Given the description of an element on the screen output the (x, y) to click on. 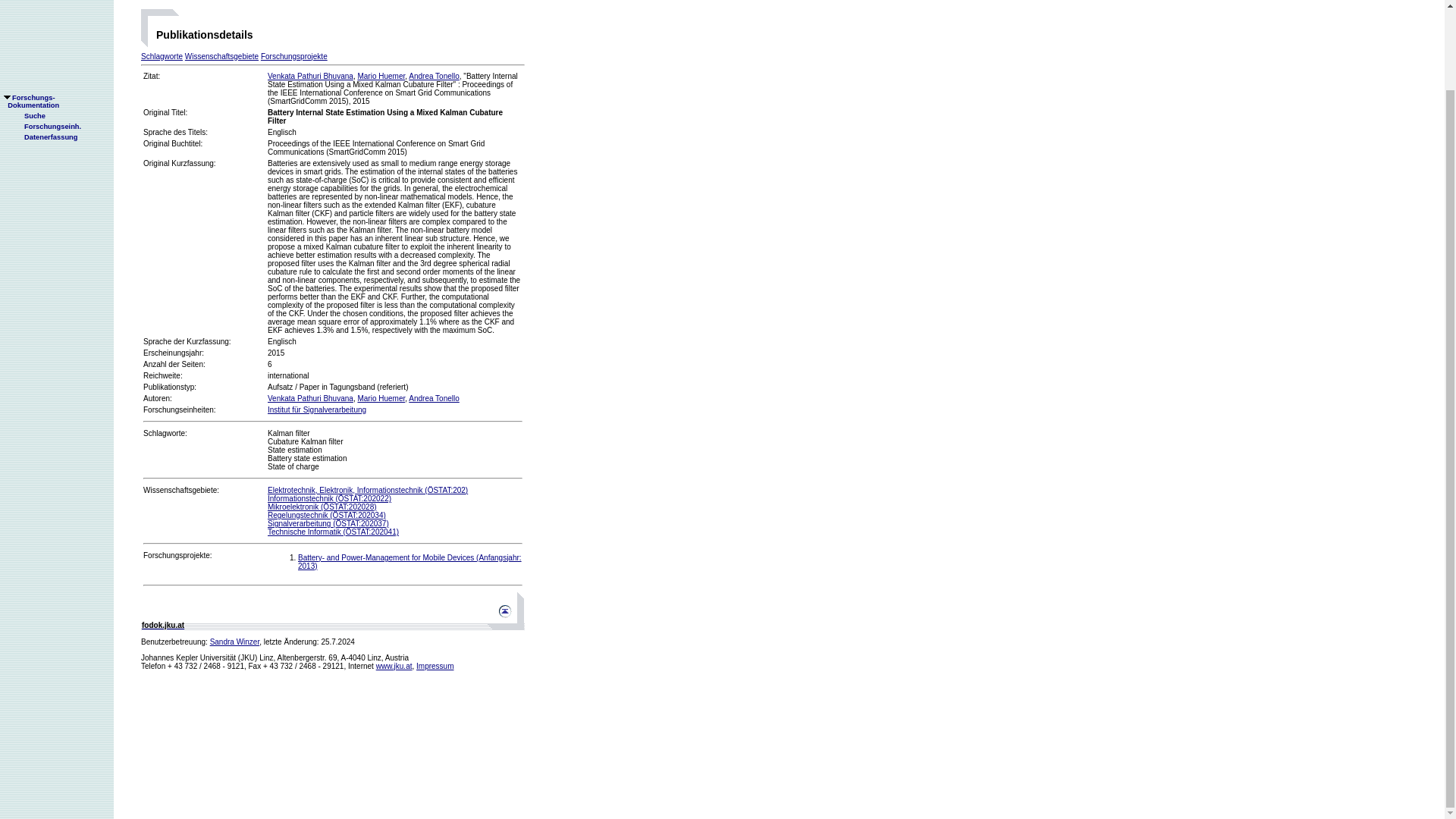
Venkata Pathuri Bhuvana (310, 397)
Forschungsprojekte: (177, 555)
Suche (28, 25)
Mario Huemer (380, 76)
Schlagworte: (164, 433)
Venkata Pathuri Bhuvana (310, 76)
Andrea Tonello (434, 76)
Wissenschaftsgebiete (221, 56)
Sandra Winzer (234, 642)
Forschungseinh. (46, 36)
fodok.jku.at (162, 624)
Mario Huemer (380, 397)
www.jku.at (393, 665)
Impressum (434, 665)
Forschungsprojekte (293, 56)
